Given the description of an element on the screen output the (x, y) to click on. 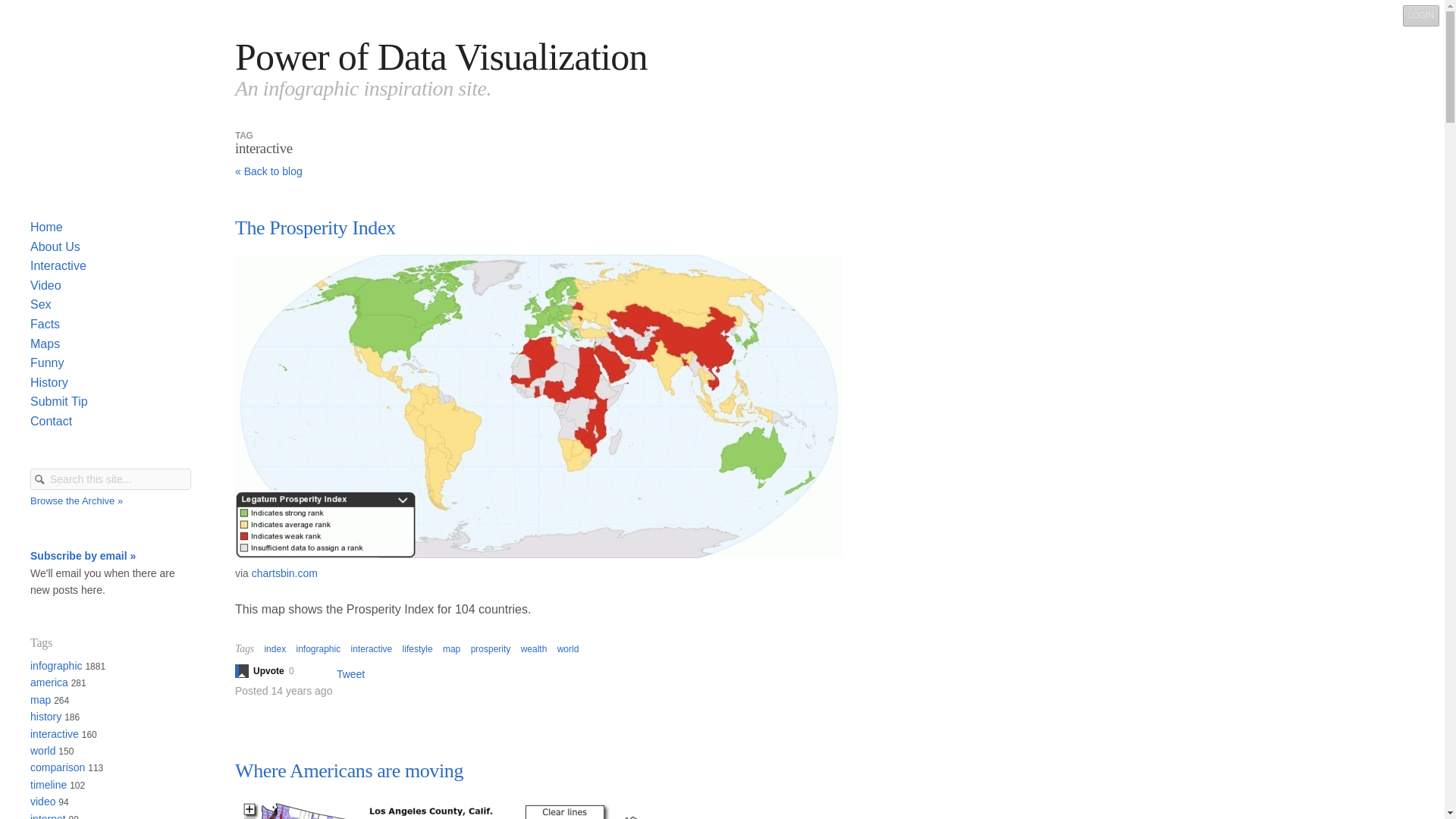
The Prosperity Index (315, 228)
Power of Data Visualization (440, 56)
chartsbin.com (284, 573)
index (274, 648)
wealth (534, 648)
infographic (317, 648)
prosperity (490, 648)
map (451, 648)
14 years ago (300, 690)
UpVote 0 (270, 671)
world (568, 648)
interactive (371, 648)
Tweet (350, 674)
lifestyle (417, 648)
Where Americans are moving (348, 771)
